Given the description of an element on the screen output the (x, y) to click on. 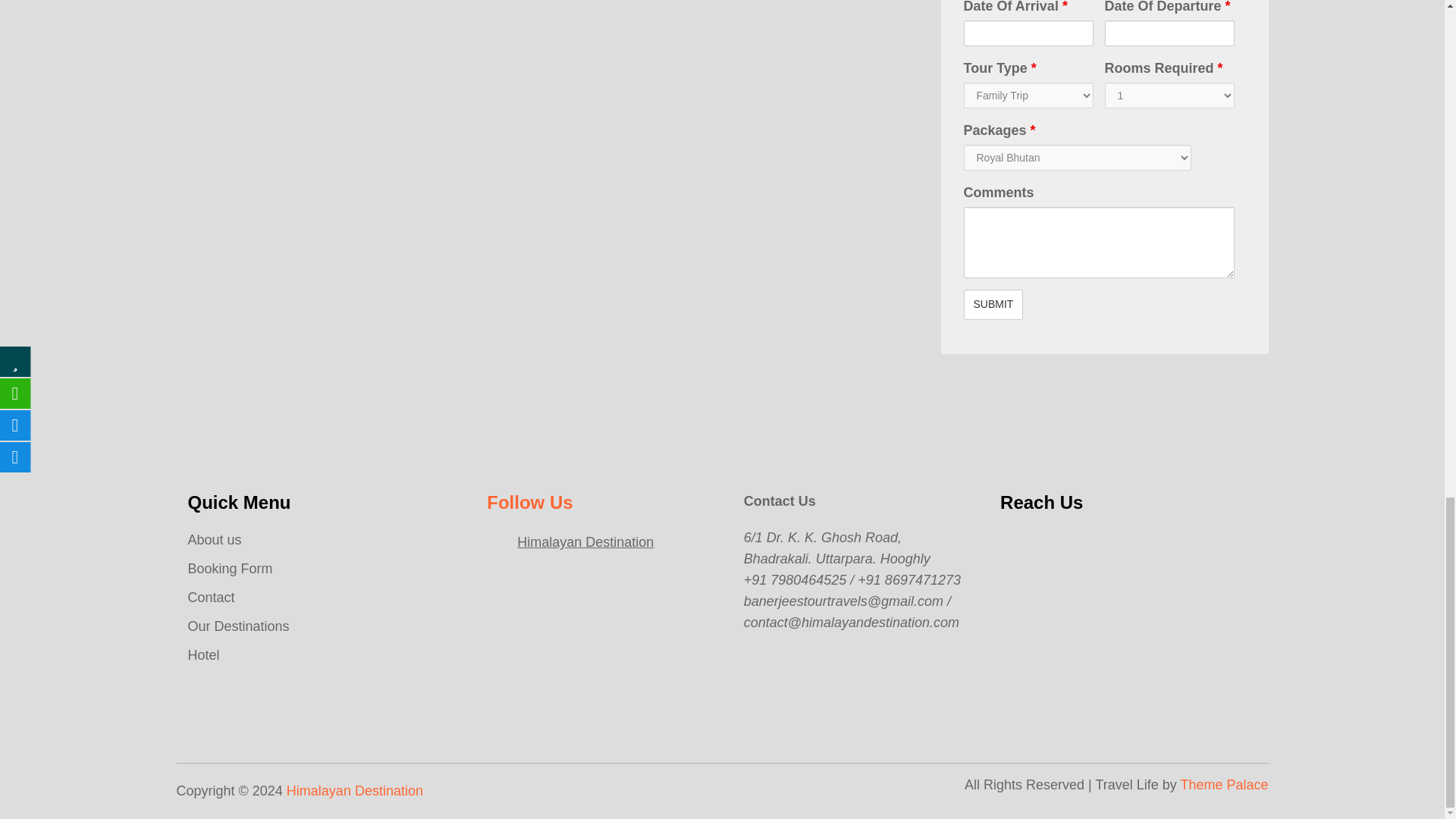
Contact (210, 597)
Submit (992, 304)
About us (214, 539)
Booking Form (230, 568)
Our Destinations (238, 626)
Hotel (203, 654)
Himalayan Destination (584, 541)
Submit (992, 304)
